Given the description of an element on the screen output the (x, y) to click on. 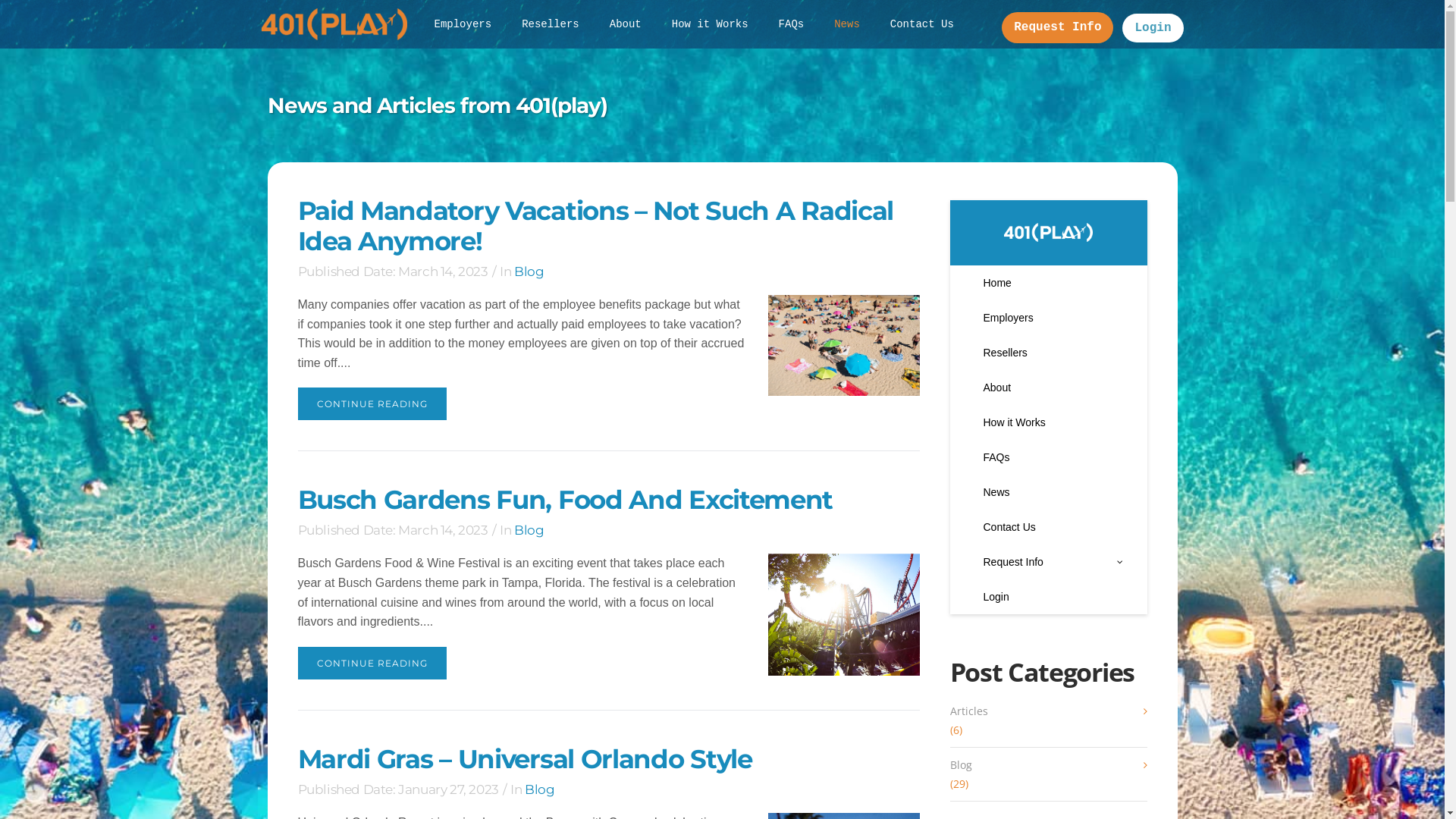
Blog Element type: text (1047, 764)
How it Works Element type: text (709, 23)
Resellers Element type: text (1047, 352)
Blog Element type: text (528, 271)
Home Element type: text (1047, 282)
Articles Element type: text (1047, 709)
Resellers Element type: text (550, 23)
How it Works Element type: text (1047, 421)
CONTINUE READING Element type: text (371, 403)
FAQs Element type: text (791, 23)
Employers Element type: text (1047, 317)
Request Info Element type: text (1057, 27)
News Element type: text (1047, 491)
Login Element type: text (1152, 27)
Blog Element type: text (528, 529)
About Element type: text (625, 23)
Contact Us Element type: text (1047, 526)
Contact Us Element type: text (922, 23)
CONTINUE READING Element type: text (371, 662)
News Element type: text (847, 23)
Busch Gardens Fun, Food And Excitement Element type: text (564, 499)
Blog Element type: text (539, 789)
Busch Gardens Fun, Food and Excitement Element type: hover (843, 613)
Login Element type: text (1047, 596)
FAQs Element type: text (1047, 456)
Request Info Element type: text (1047, 561)
Employers Element type: text (462, 23)
About Element type: text (1047, 387)
